Given the description of an element on the screen output the (x, y) to click on. 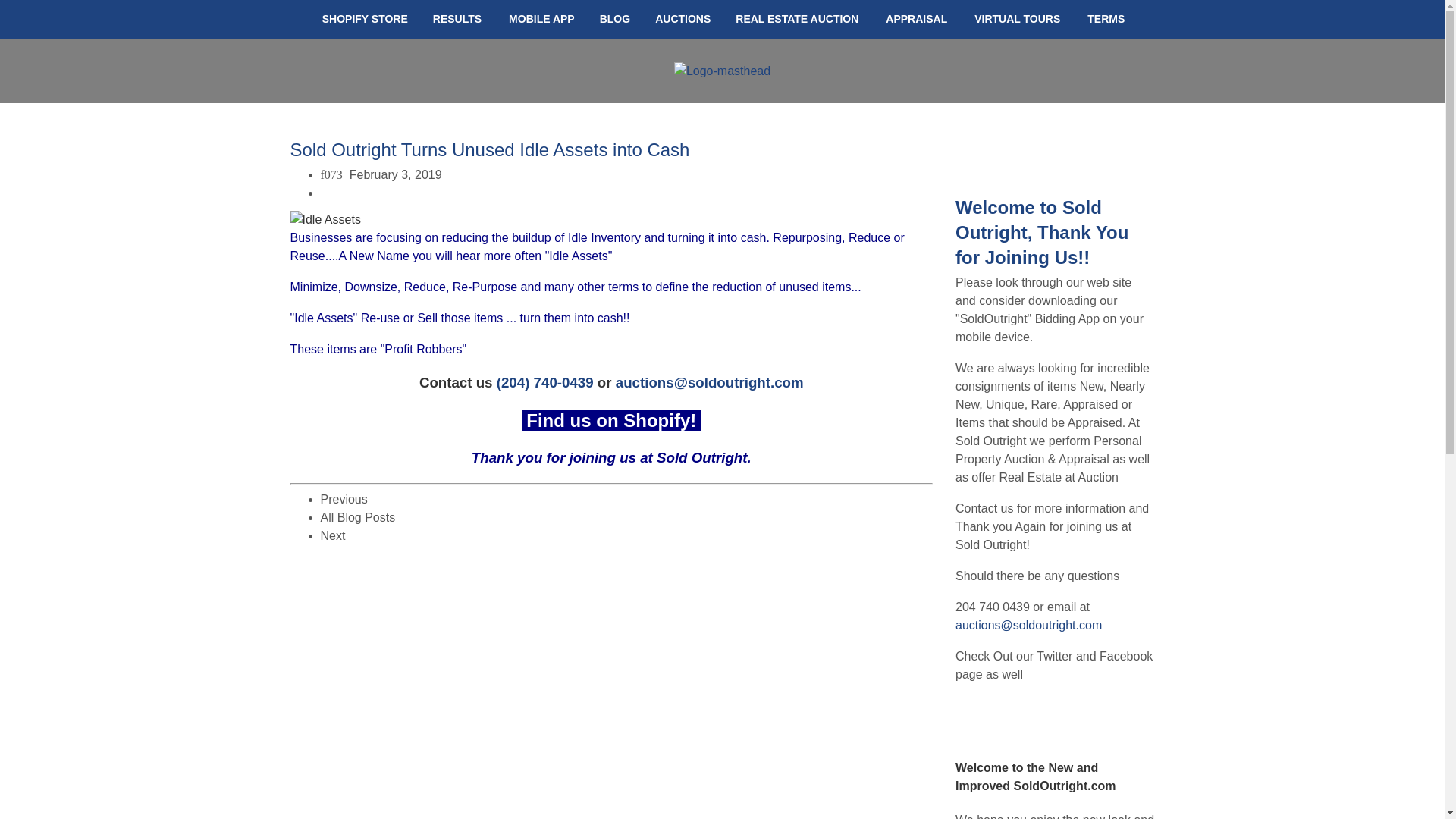
BLOG (614, 19)
SHOPIFY STORE (363, 19)
AUCTIONS (682, 19)
Auctions (682, 19)
TERMS (1104, 19)
Blog (614, 19)
All Blog Posts (357, 517)
Mobile App (540, 19)
Results (457, 19)
Real Estate Auction (797, 19)
MOBILE APP (540, 19)
Virtual Tours (1017, 19)
Find us on Shopify!  (613, 420)
Appraisal (916, 19)
